Given the description of an element on the screen output the (x, y) to click on. 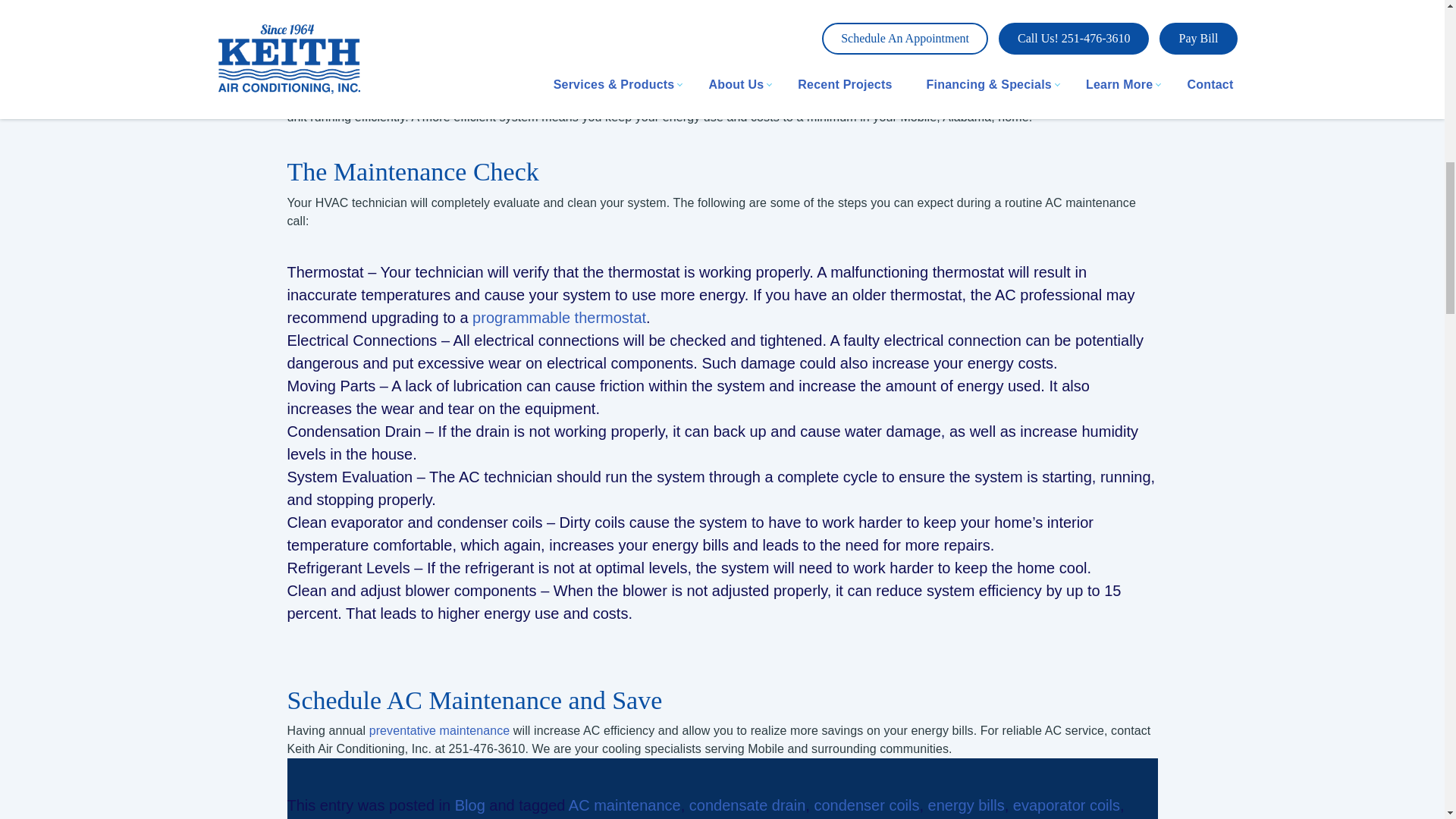
condenser coils (865, 805)
evaporator coils (1066, 805)
condensate drain (746, 805)
Blog (469, 805)
professional AC maintenance (430, 98)
AC maintenance (625, 805)
programmable thermostat (558, 317)
preventative maintenance (440, 730)
energy bills (966, 805)
